Given the description of an element on the screen output the (x, y) to click on. 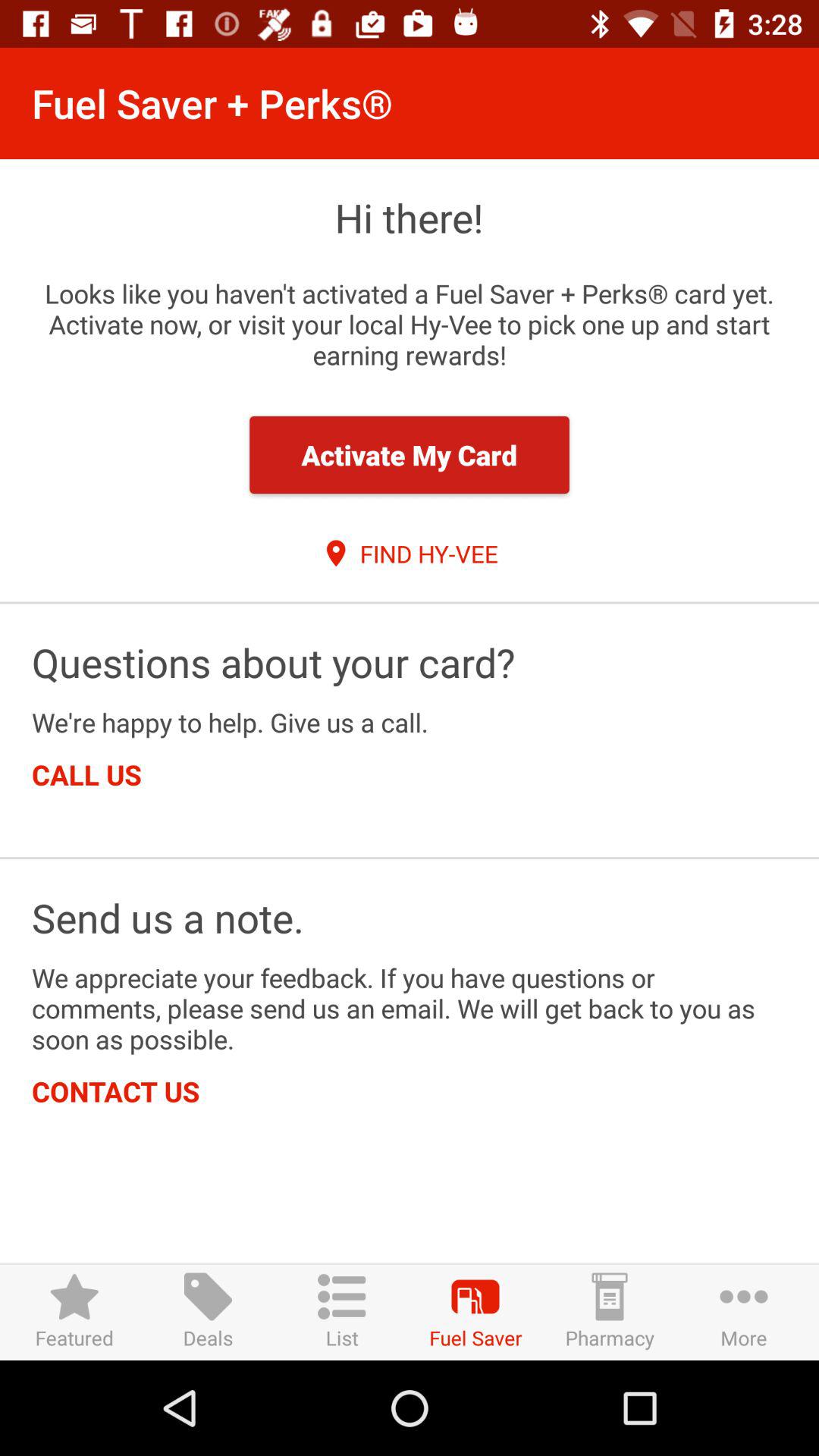
click the contact us icon (115, 1091)
